Given the description of an element on the screen output the (x, y) to click on. 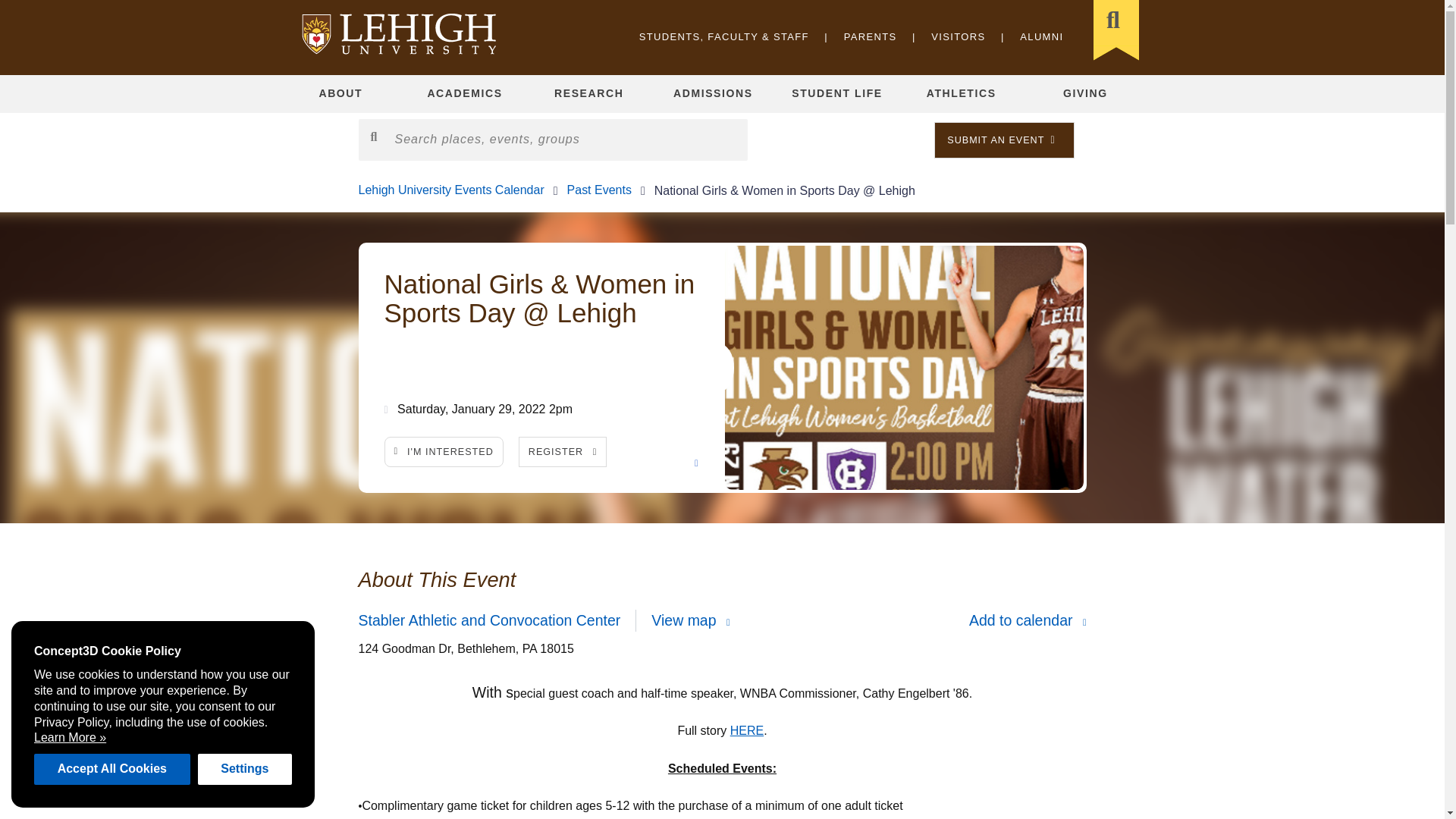
ABOUT (341, 94)
ALUMNI (1041, 36)
ACADEMICS (465, 94)
VISITORS (958, 36)
PARENTS (870, 36)
